Given the description of an element on the screen output the (x, y) to click on. 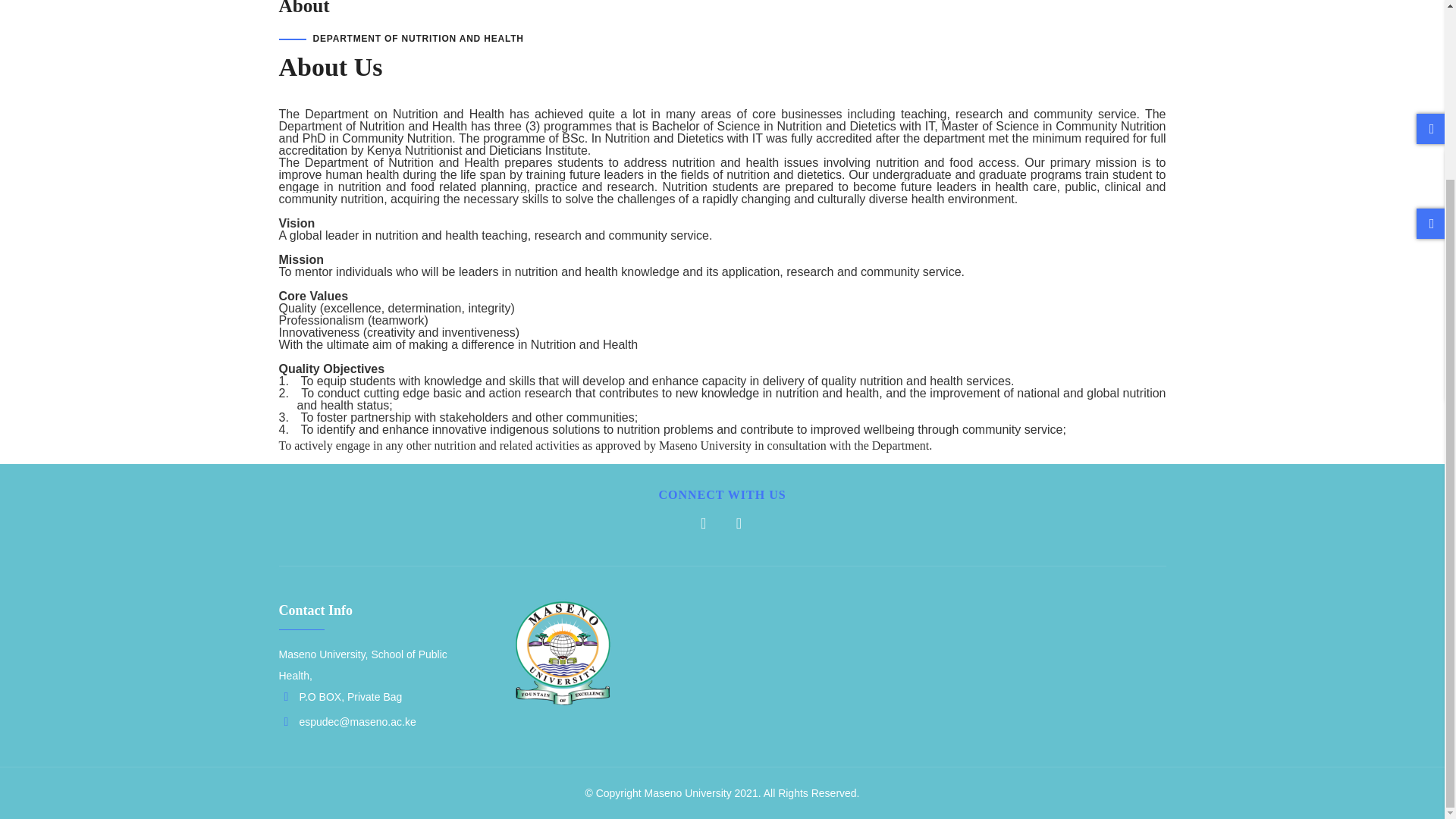
Maseno University (686, 793)
